Given the description of an element on the screen output the (x, y) to click on. 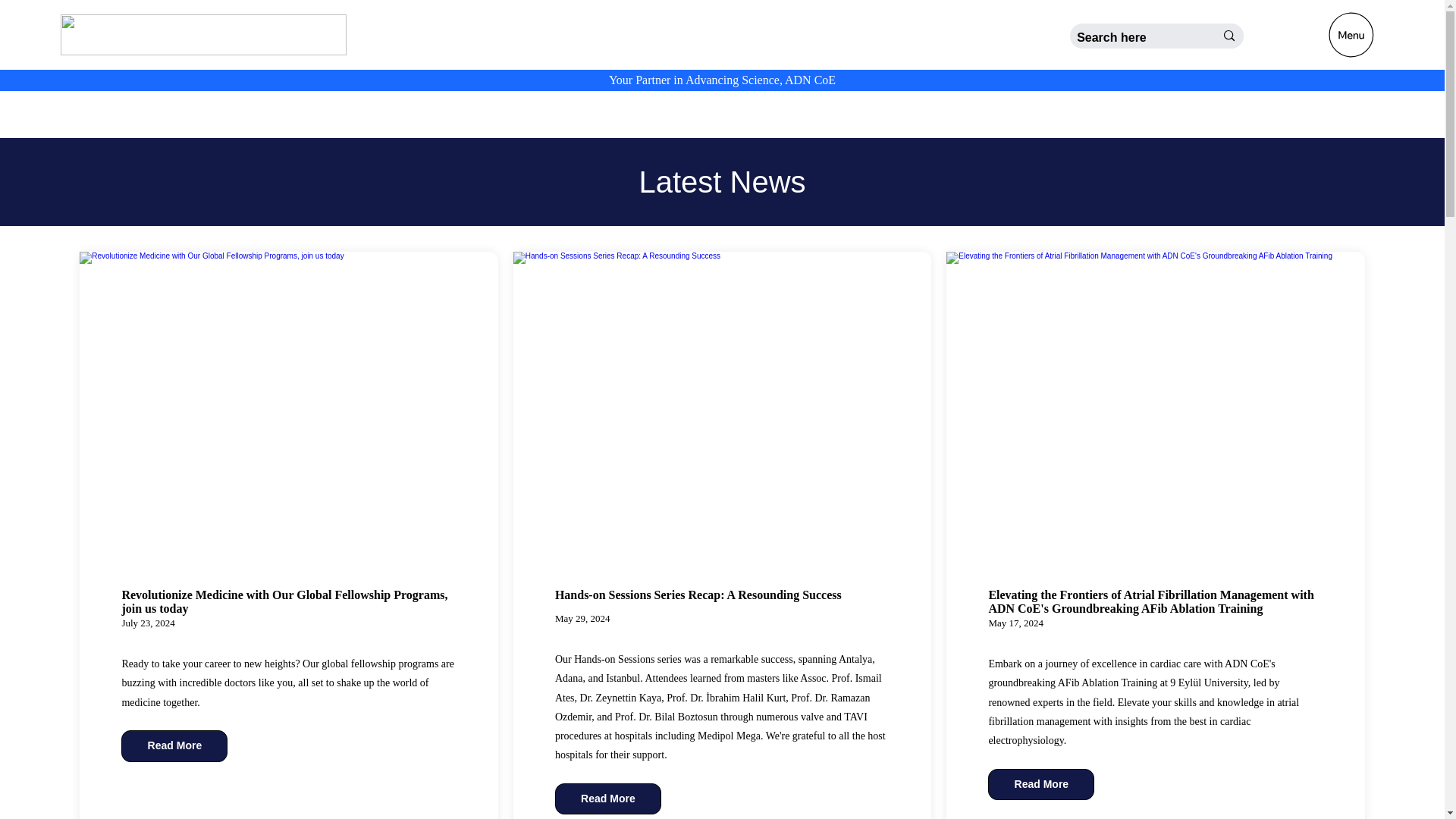
Read More (1041, 784)
Read More (607, 798)
Read More (173, 746)
